Given the description of an element on the screen output the (x, y) to click on. 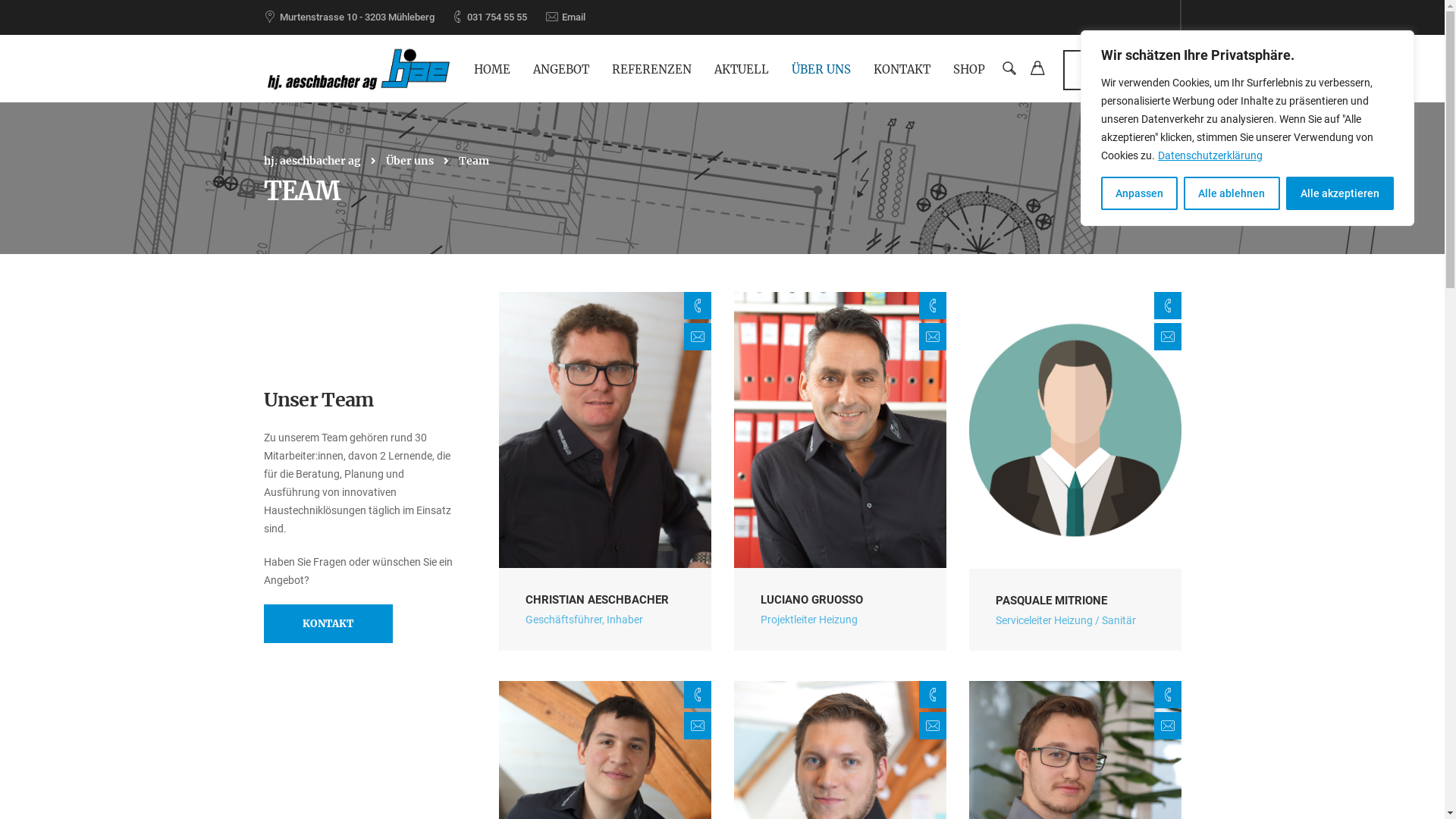
KONTAKT Element type: text (327, 623)
HOME Element type: text (491, 68)
REFERENZEN Element type: text (650, 68)
031 754 55 55 Element type: text (497, 16)
Email Element type: text (572, 16)
Impessum & Datenschutz Element type: text (1082, 790)
cart Element type: hover (1036, 70)
PLANUNG Element type: text (521, 599)
WASSERVERSORGUNG Element type: text (550, 576)
hj. aeschbacher ag Element type: text (311, 160)
HEIZUNG Element type: text (519, 553)
AKTUELL Element type: text (741, 68)
AGBs Element type: text (1167, 790)
ANGEBOT Element type: text (560, 68)
KONTAKT Element type: text (901, 68)
hj-aeschbacher-ag_mitarbeiter_portrait Element type: hover (1075, 429)
SERVICE Element type: text (518, 644)
SHOP Element type: text (968, 68)
christian_aeschbacher Element type: hover (604, 429)
MEIN KONTO Element type: text (1122, 70)
Luciano Gruosso Element type: hover (840, 429)
